Given the description of an element on the screen output the (x, y) to click on. 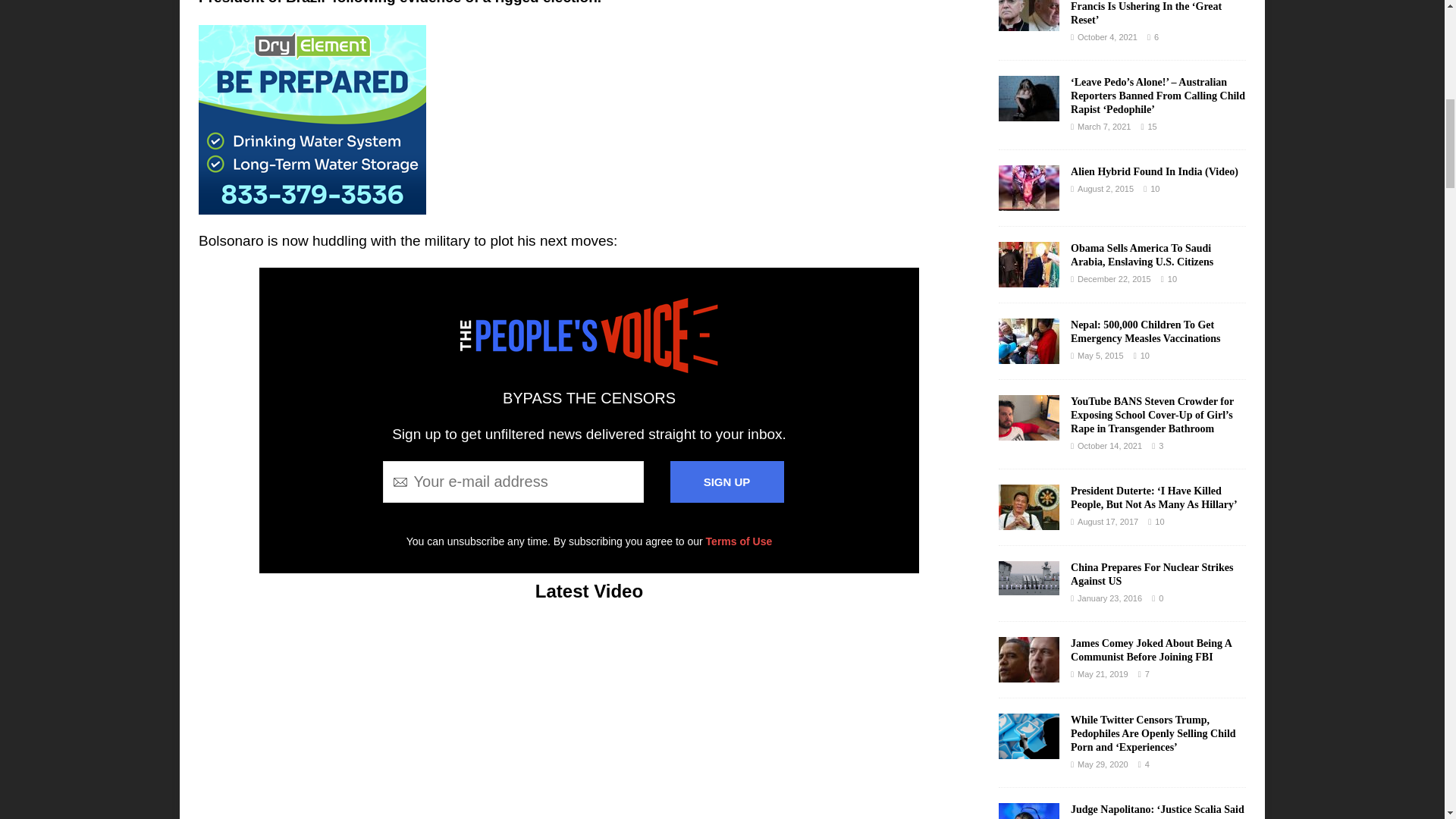
SIGN UP (726, 481)
